Given the description of an element on the screen output the (x, y) to click on. 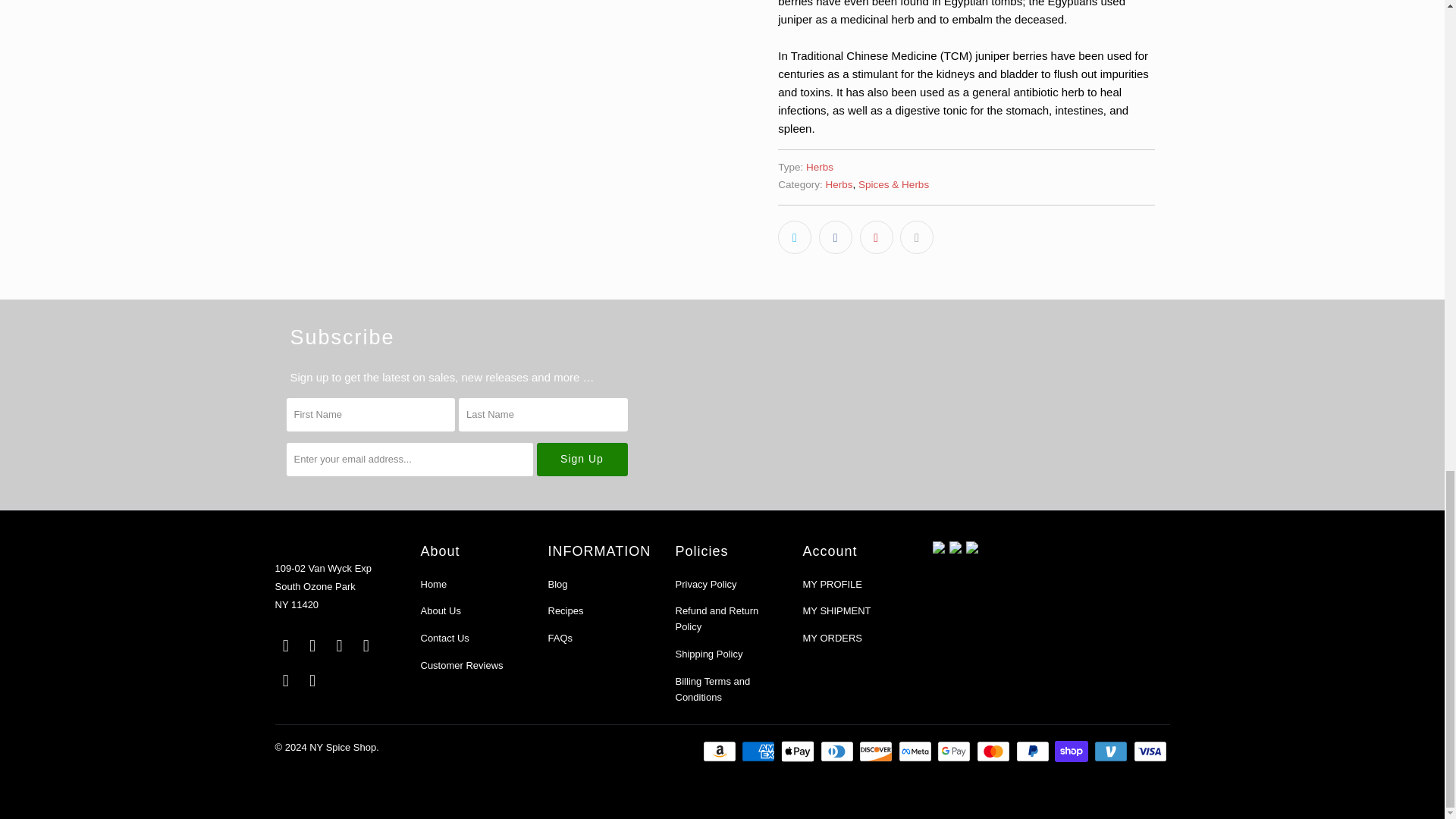
American Express (759, 751)
PayPal (1034, 751)
Products tagged Herbs (839, 184)
Diners Club (839, 751)
Google Pay (955, 751)
Mastercard (994, 751)
Share this on Pinterest (876, 236)
Venmo (1112, 751)
Herbs (819, 166)
Amazon (721, 751)
